Given the description of an element on the screen output the (x, y) to click on. 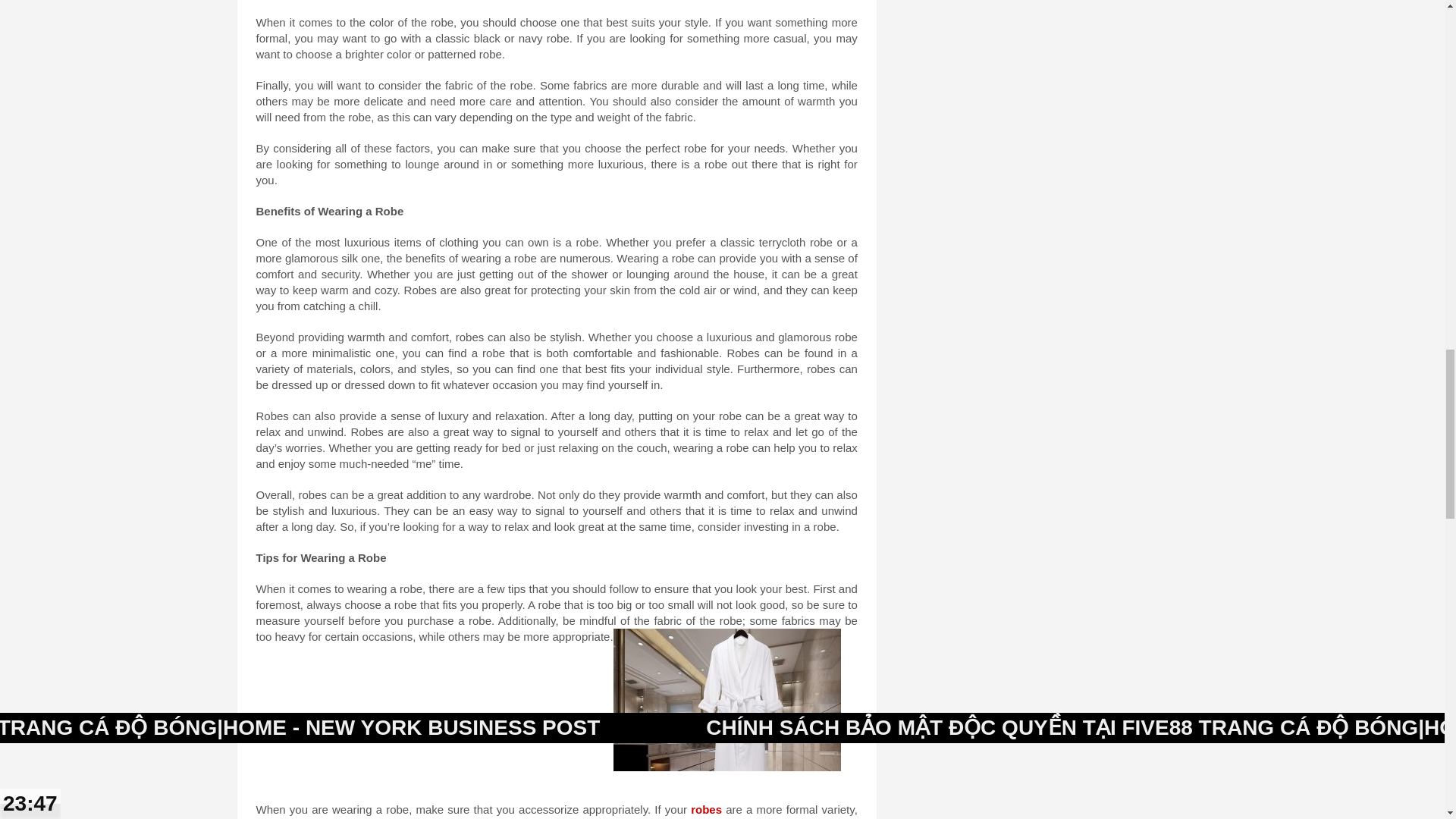
robes (704, 809)
